Given the description of an element on the screen output the (x, y) to click on. 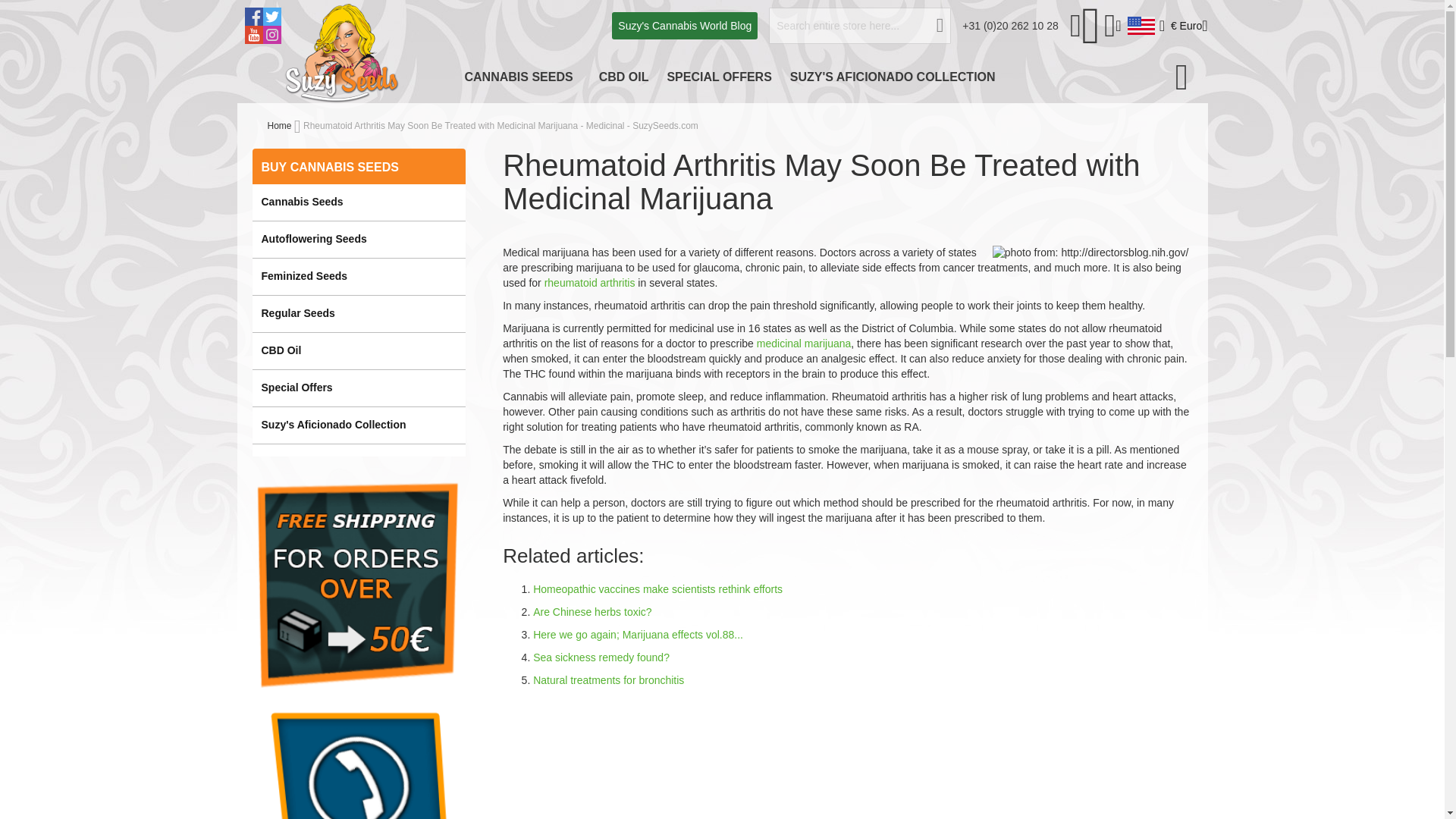
Suzyseeds Youtube (253, 34)
Suzy's Cannabis World Blog (684, 25)
SUZY'S AFICIONADO COLLECTION (892, 77)
SPECIAL OFFERS (719, 77)
Suzy Seeds logo homepage link (341, 51)
Suzy's Cannabis World Blog (684, 25)
Suzyseeds Twitter (271, 16)
Suzyseeds Instagram (271, 34)
Go to Home Page (278, 125)
CANNABIS SEEDS (521, 77)
Contact (1010, 25)
Suzyseeds Facebook (253, 16)
Suzy Seeds logo homepage link (341, 53)
CBD OIL (623, 77)
Free shipping above 50 eur.  (357, 584)
